Given the description of an element on the screen output the (x, y) to click on. 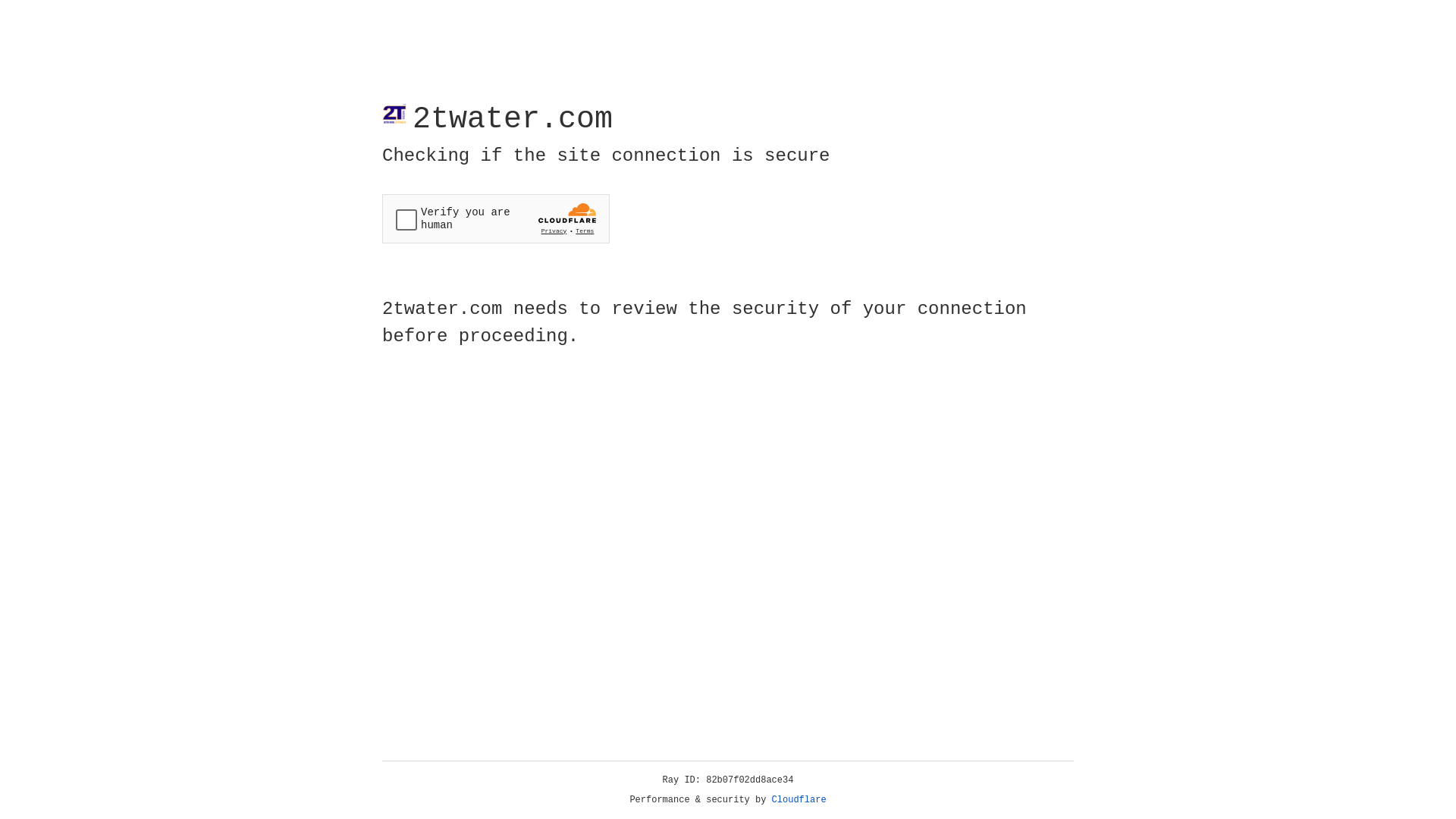
Cloudflare Element type: text (798, 799)
Widget containing a Cloudflare security challenge Element type: hover (495, 218)
